Given the description of an element on the screen output the (x, y) to click on. 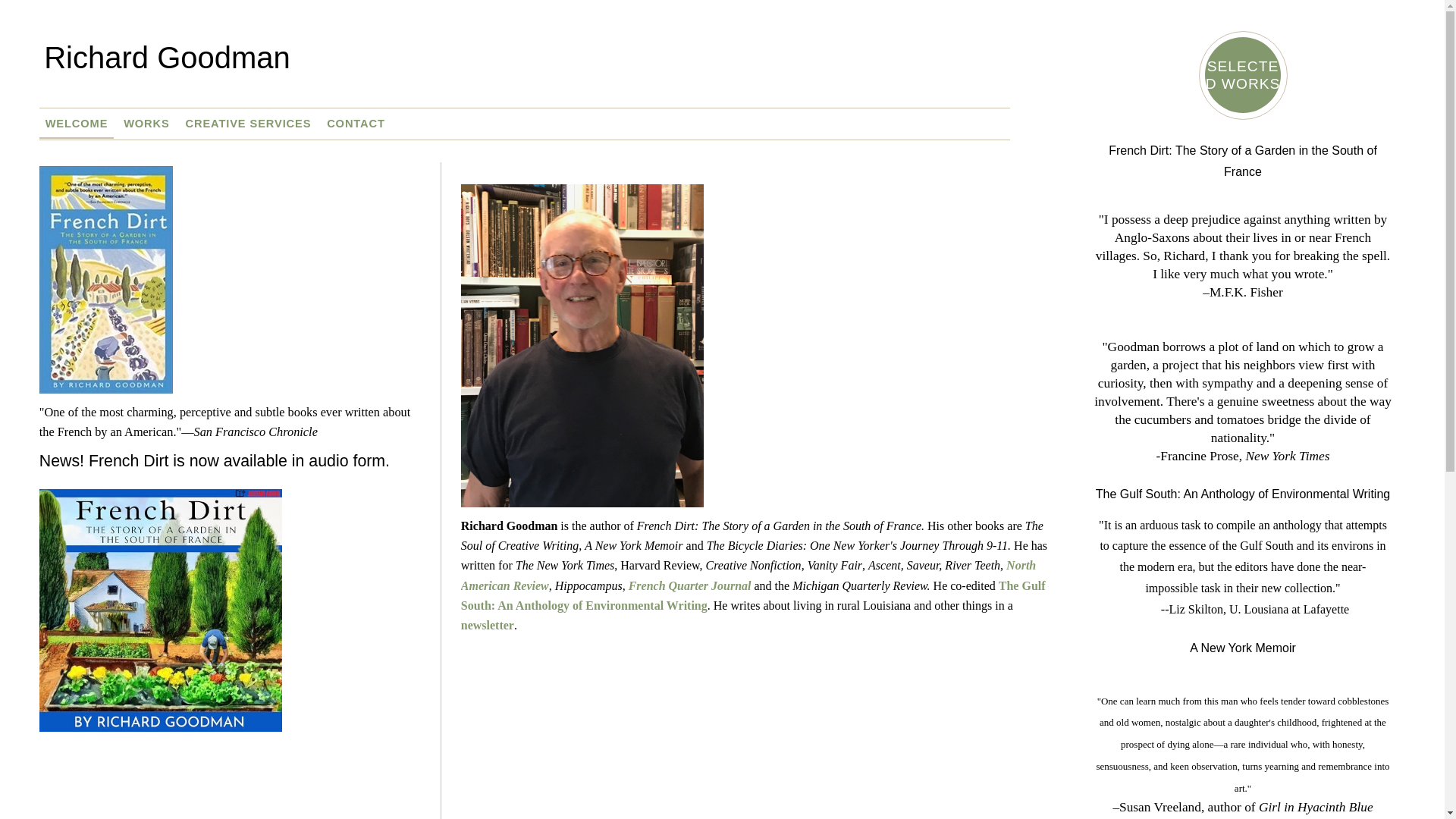
CREATIVE SERVICES (248, 123)
Richard Goodman (548, 69)
The Gulf South: An Anthology of Environmental Writing (1243, 493)
WORKS (145, 123)
French Quarter Journal (689, 585)
WELCOME (77, 123)
News! French Dirt is now available in audio form. (214, 461)
newsletter (487, 625)
French Dirt: The Story of a Garden in the South of France (1242, 160)
The Gulf South: An Anthology of Environmental Writing (753, 595)
